Given the description of an element on the screen output the (x, y) to click on. 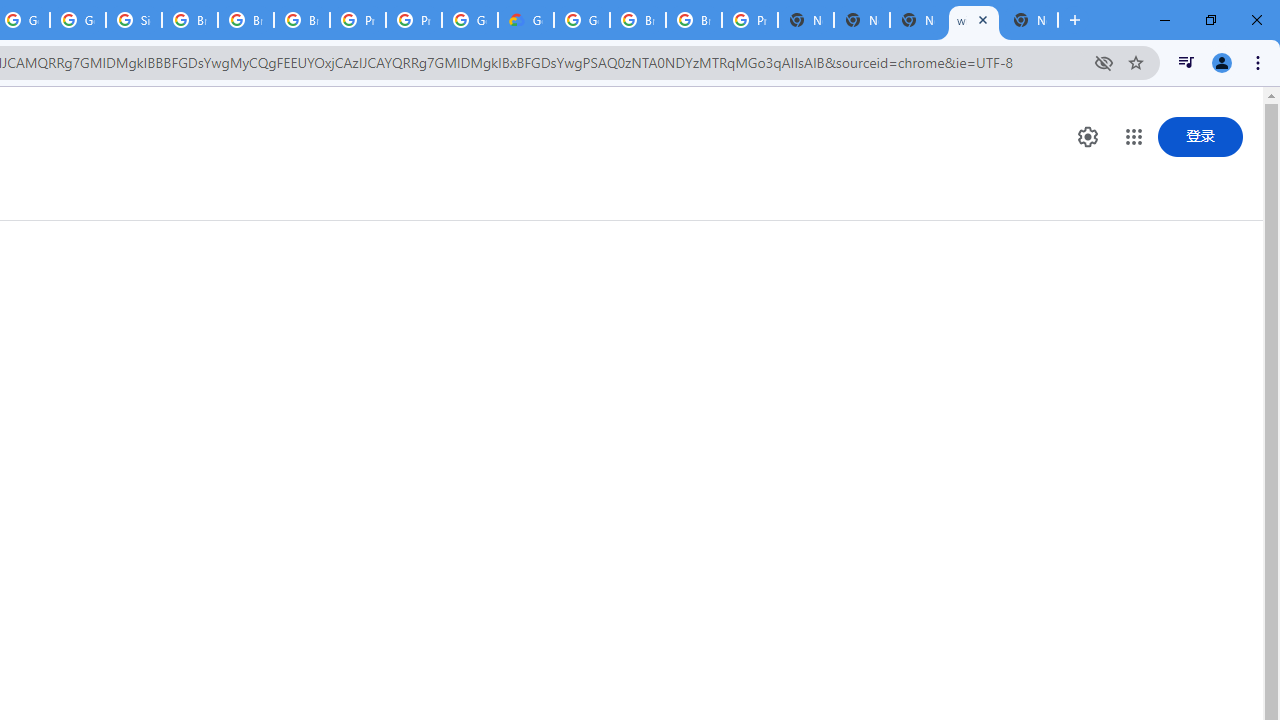
Browse Chrome as a guest - Computer - Google Chrome Help (301, 20)
Browse Chrome as a guest - Computer - Google Chrome Help (693, 20)
Google Cloud Platform (469, 20)
New Tab (806, 20)
Google Cloud Estimate Summary (525, 20)
Third-party cookies blocked (1103, 62)
Browse Chrome as a guest - Computer - Google Chrome Help (245, 20)
